Given the description of an element on the screen output the (x, y) to click on. 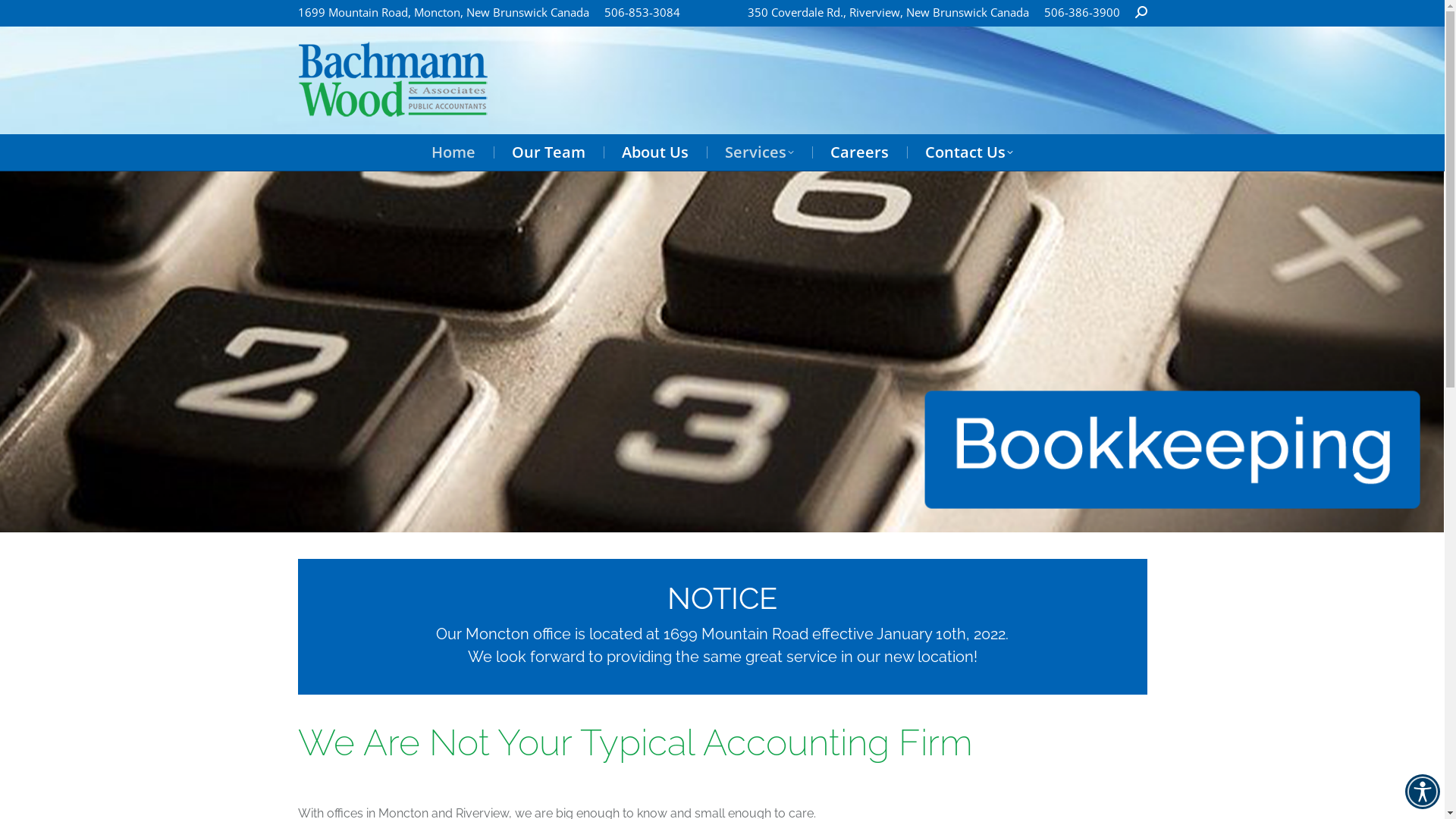
Contact Us Element type: text (969, 152)
506-386-3900 Element type: text (1081, 12)
Home Element type: text (453, 152)
Go! Element type: text (23, 16)
Services Element type: text (759, 152)
About Us Element type: text (654, 152)
506-853-3084 Element type: text (641, 12)
Careers Element type: text (859, 152)
Our Team Element type: text (548, 152)
